Given the description of an element on the screen output the (x, y) to click on. 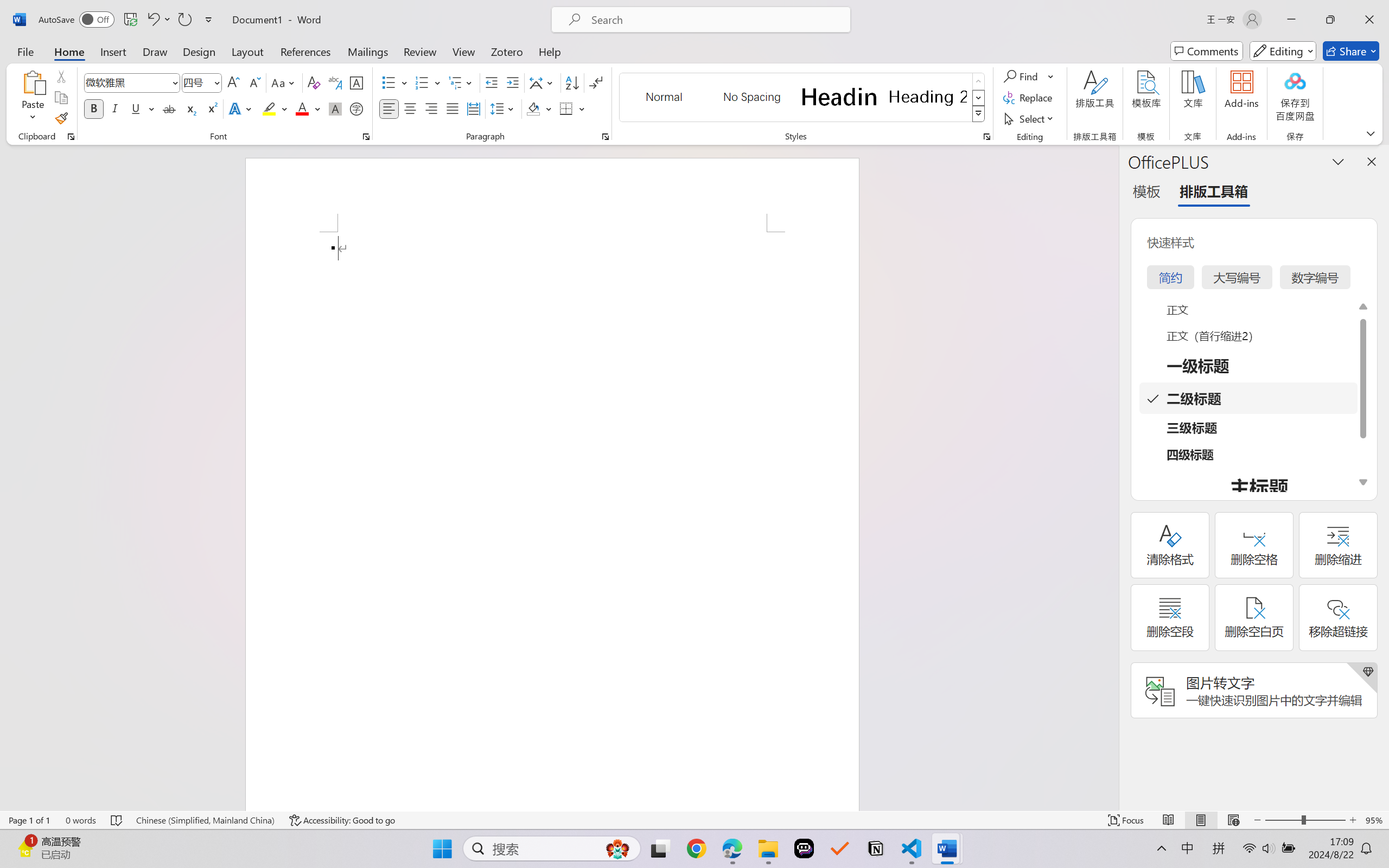
Class: NetUIScrollBar (1111, 477)
Page 1 content (552, 521)
Zoom 95% (1374, 819)
